Given the description of an element on the screen output the (x, y) to click on. 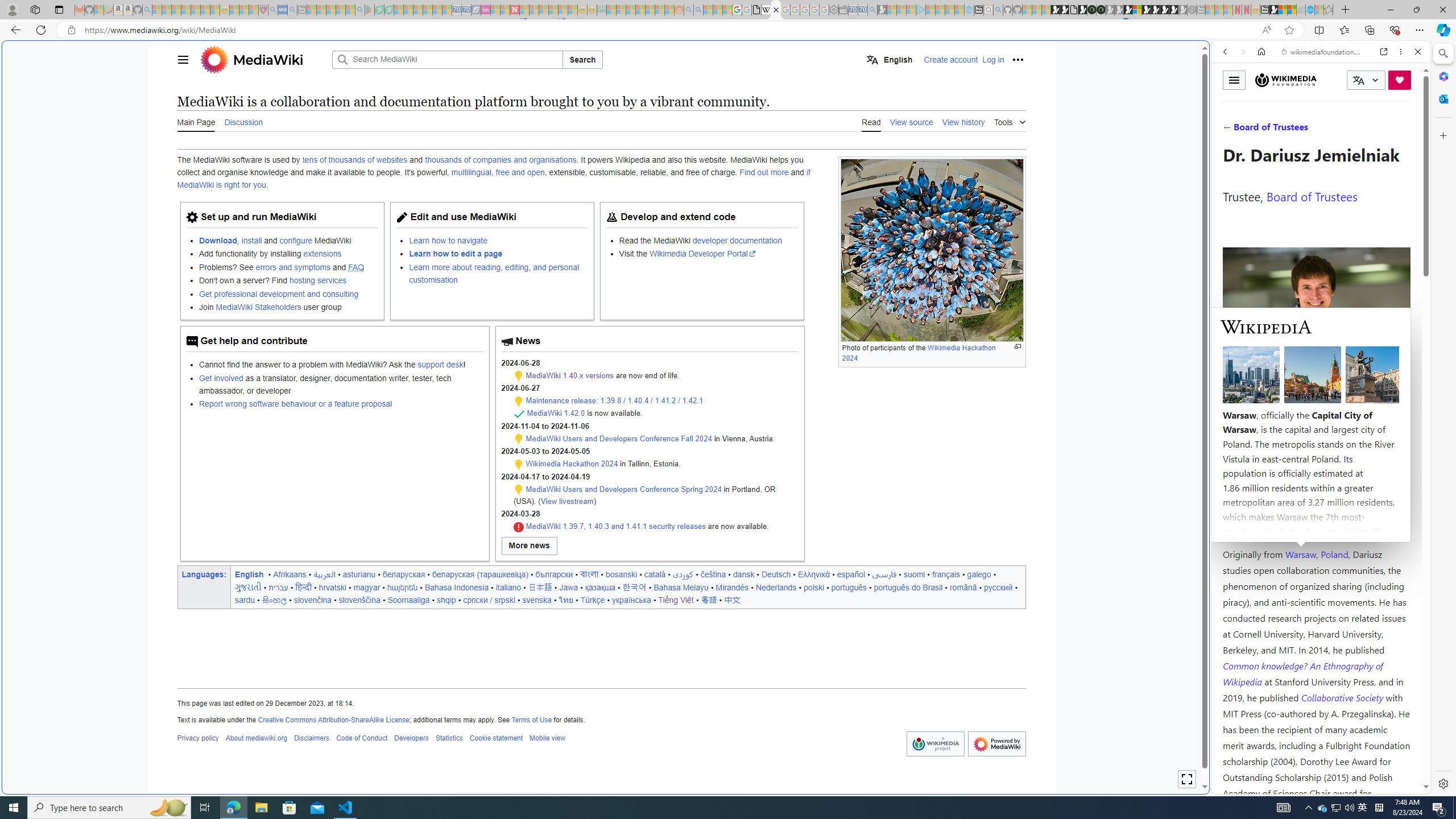
Microsoft-Report a Concern to Bing - Sleeping (98, 9)
IMAGES (1262, 130)
Forward (1242, 51)
Personal tools (1017, 59)
Kozminski University (1316, 486)
Afrikaans (290, 574)
Toggle limited content width (1186, 778)
Main Page (195, 121)
Toggle menu (1233, 80)
hrvatski (332, 587)
Cheap Car Rentals - Save70.com - Sleeping (862, 9)
